Given the description of an element on the screen output the (x, y) to click on. 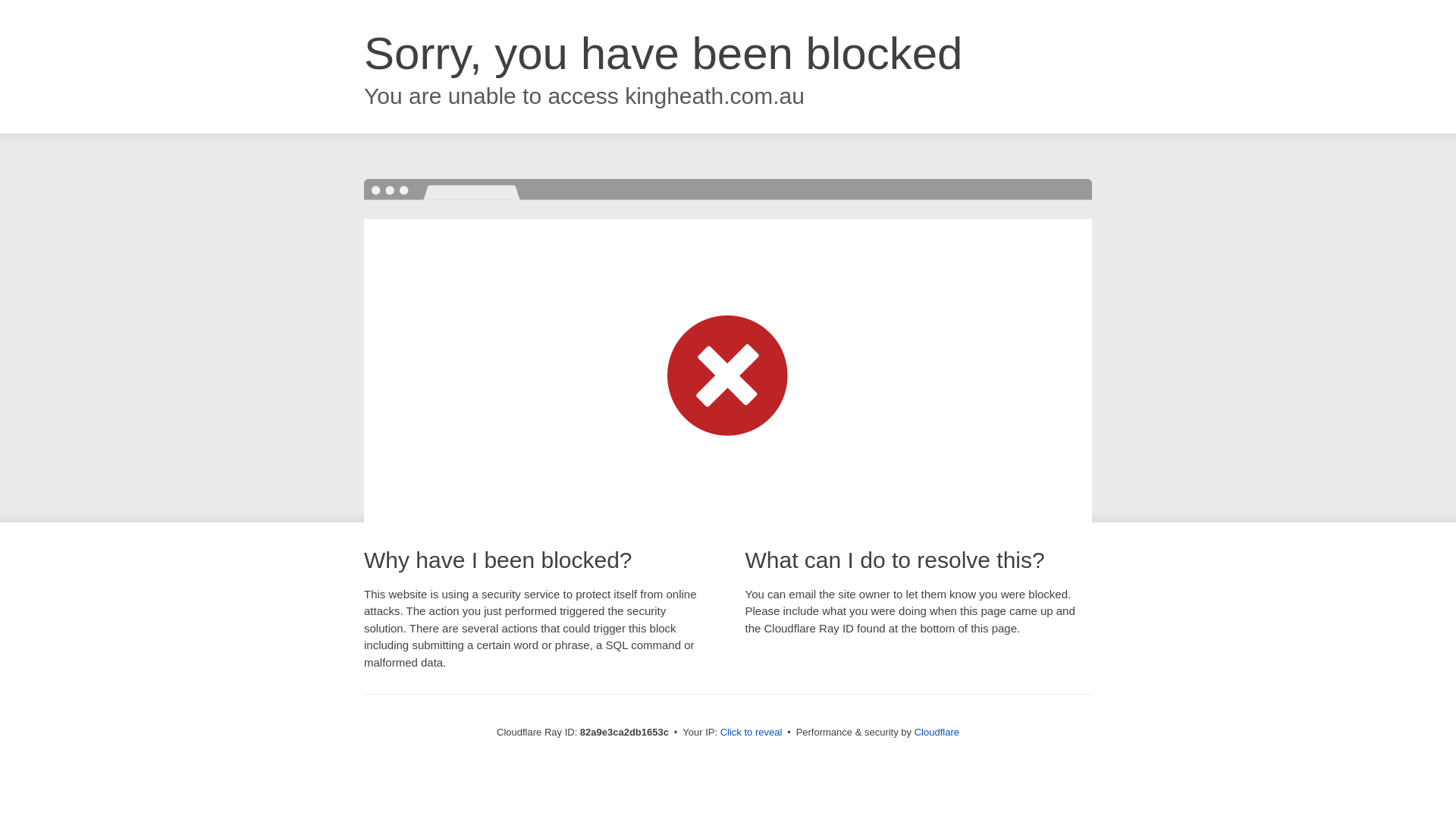
Cloudflare Element type: text (936, 731)
Click to reveal Element type: text (751, 732)
